Given the description of an element on the screen output the (x, y) to click on. 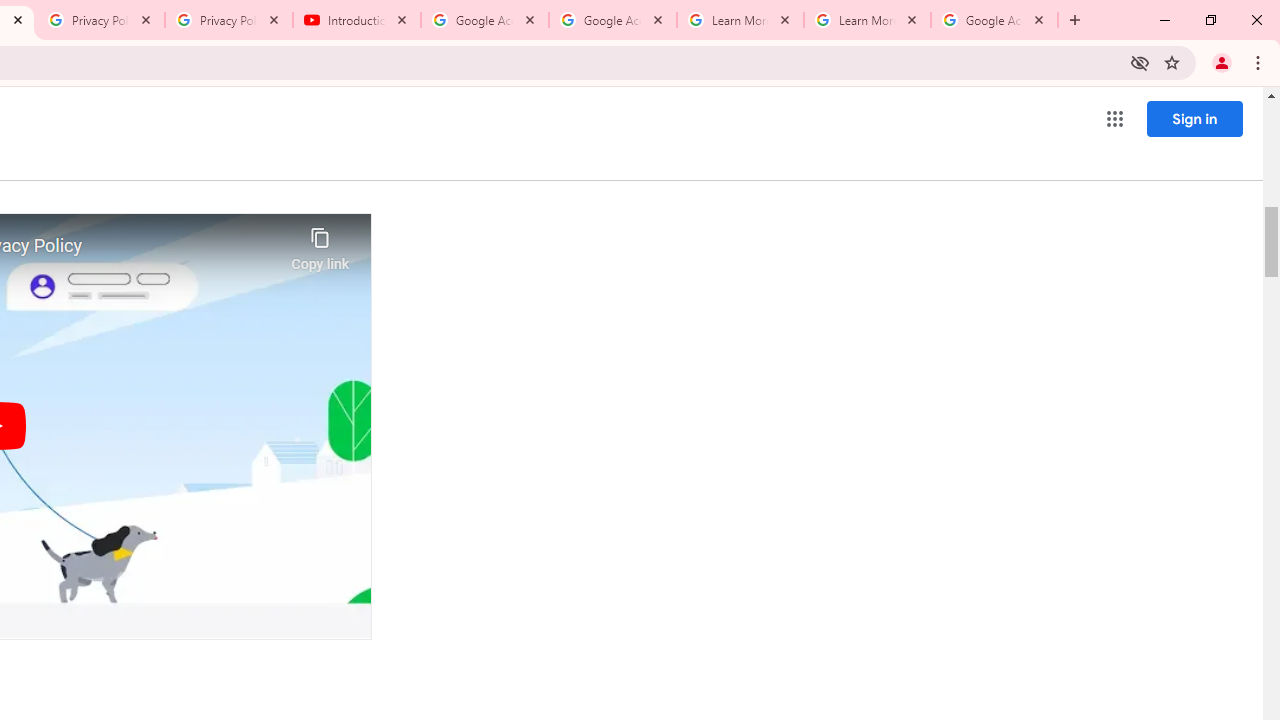
Copy link (319, 244)
Google Account Help (613, 20)
